Given the description of an element on the screen output the (x, y) to click on. 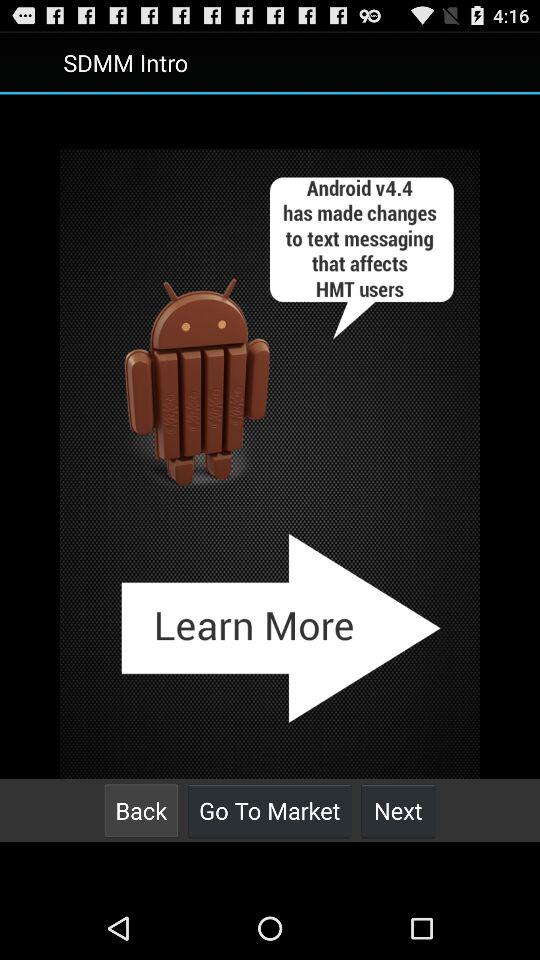
turn off icon to the left of the go to market button (141, 810)
